Given the description of an element on the screen output the (x, y) to click on. 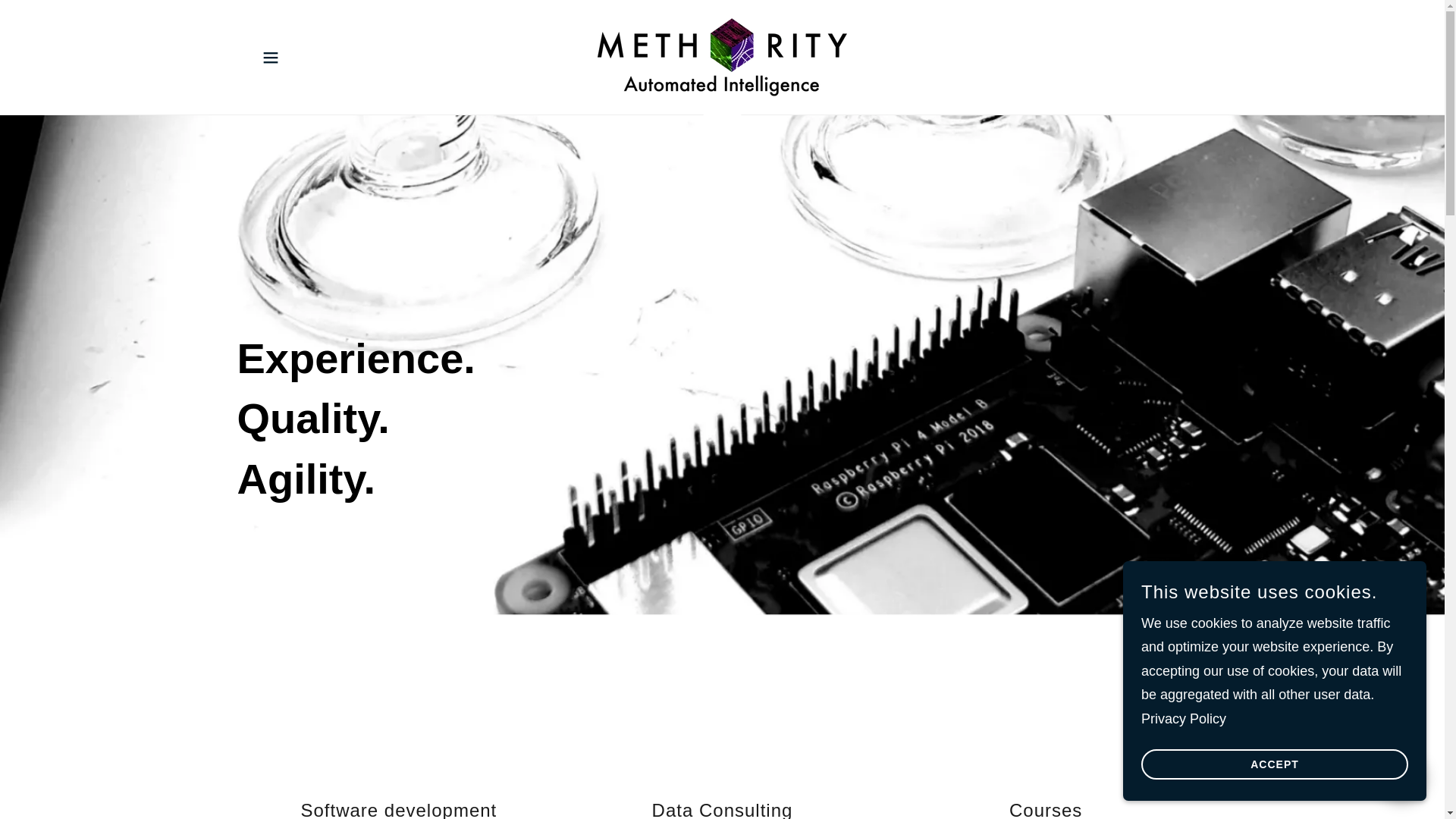
Privacy Policy (1183, 718)
Methority Automated Intelligence (721, 55)
ACCEPT (1274, 764)
